Given the description of an element on the screen output the (x, y) to click on. 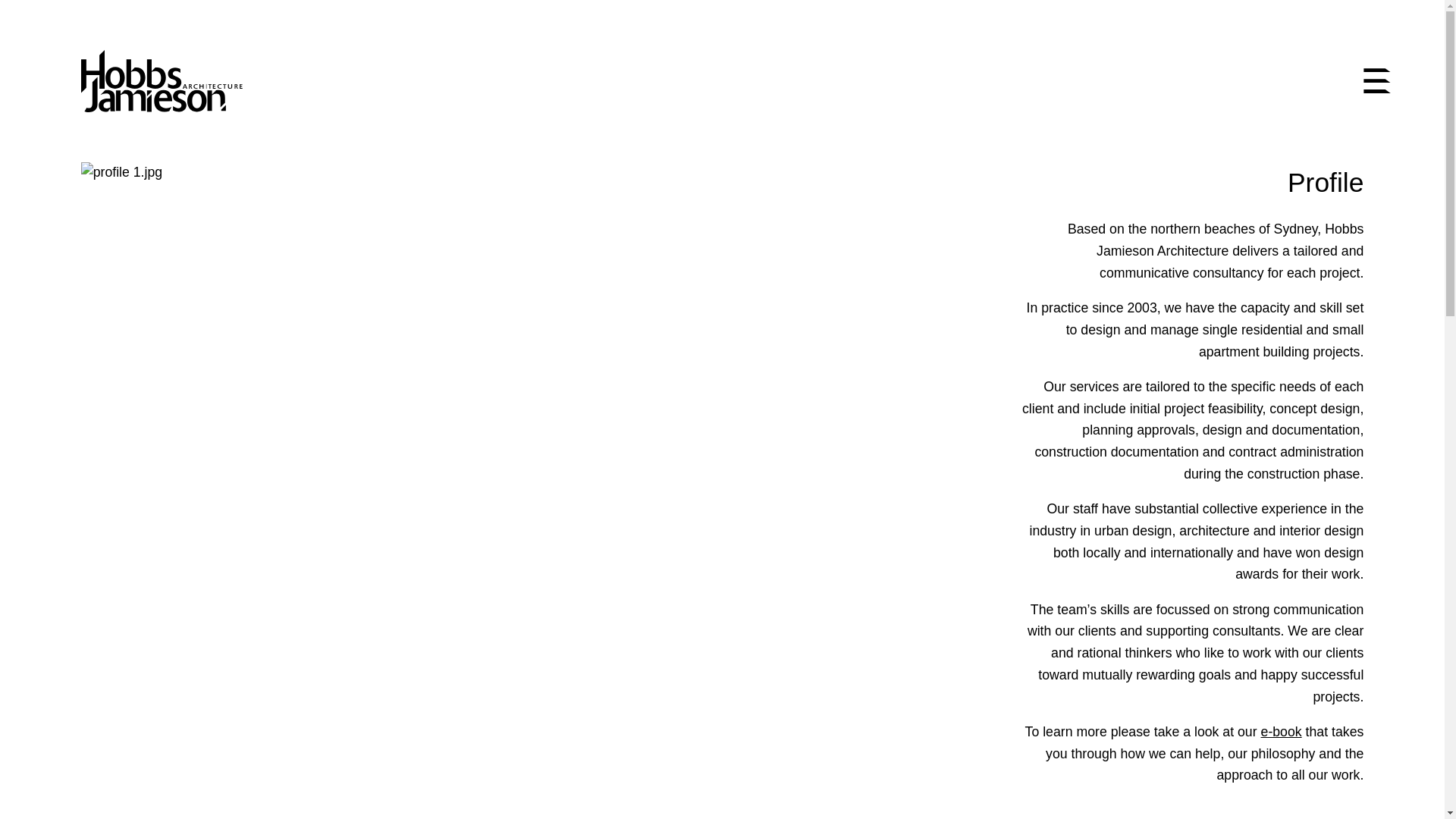
e-book Element type: text (1281, 731)
